Given the description of an element on the screen output the (x, y) to click on. 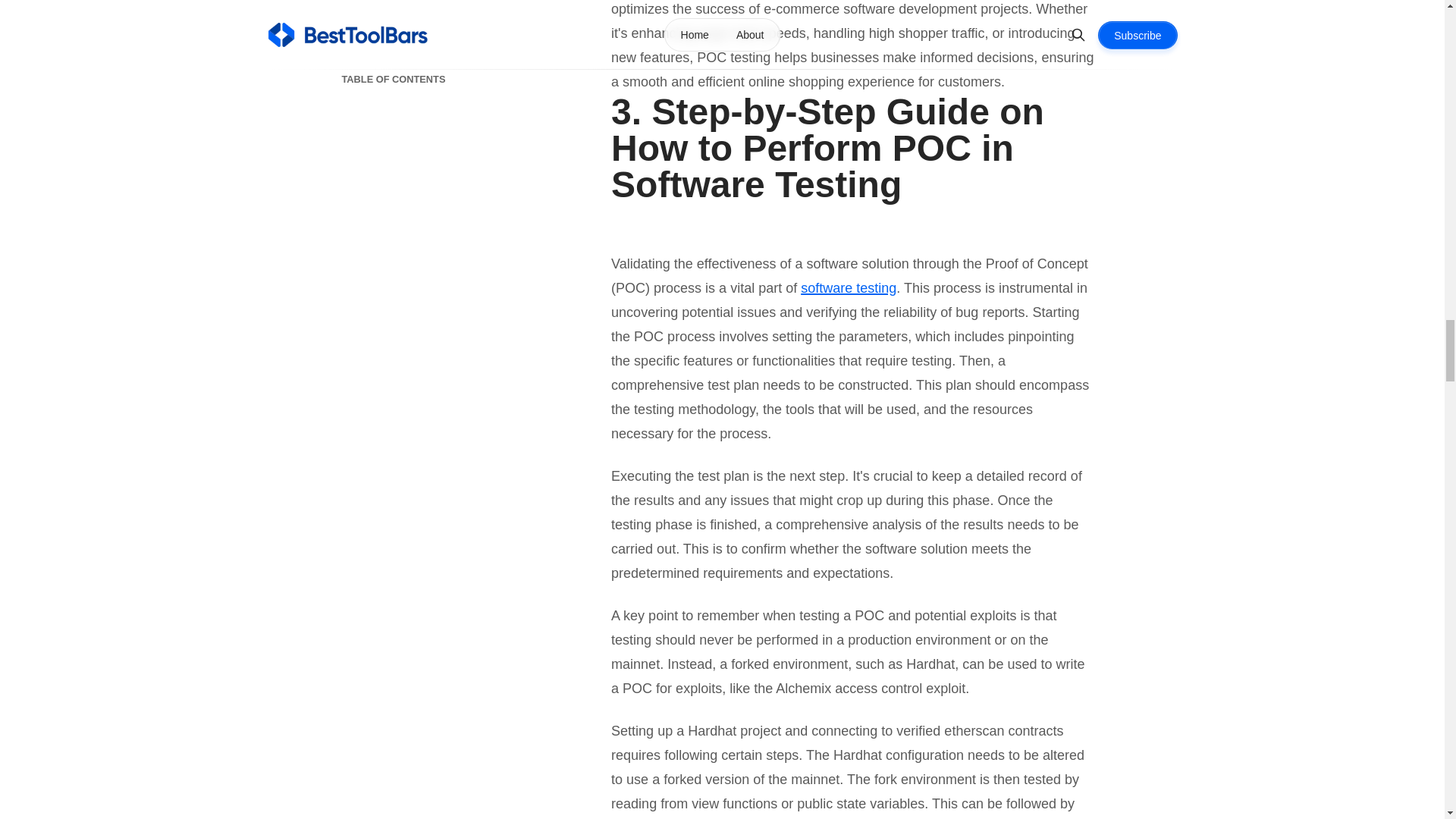
software testing (848, 287)
